Given the description of an element on the screen output the (x, y) to click on. 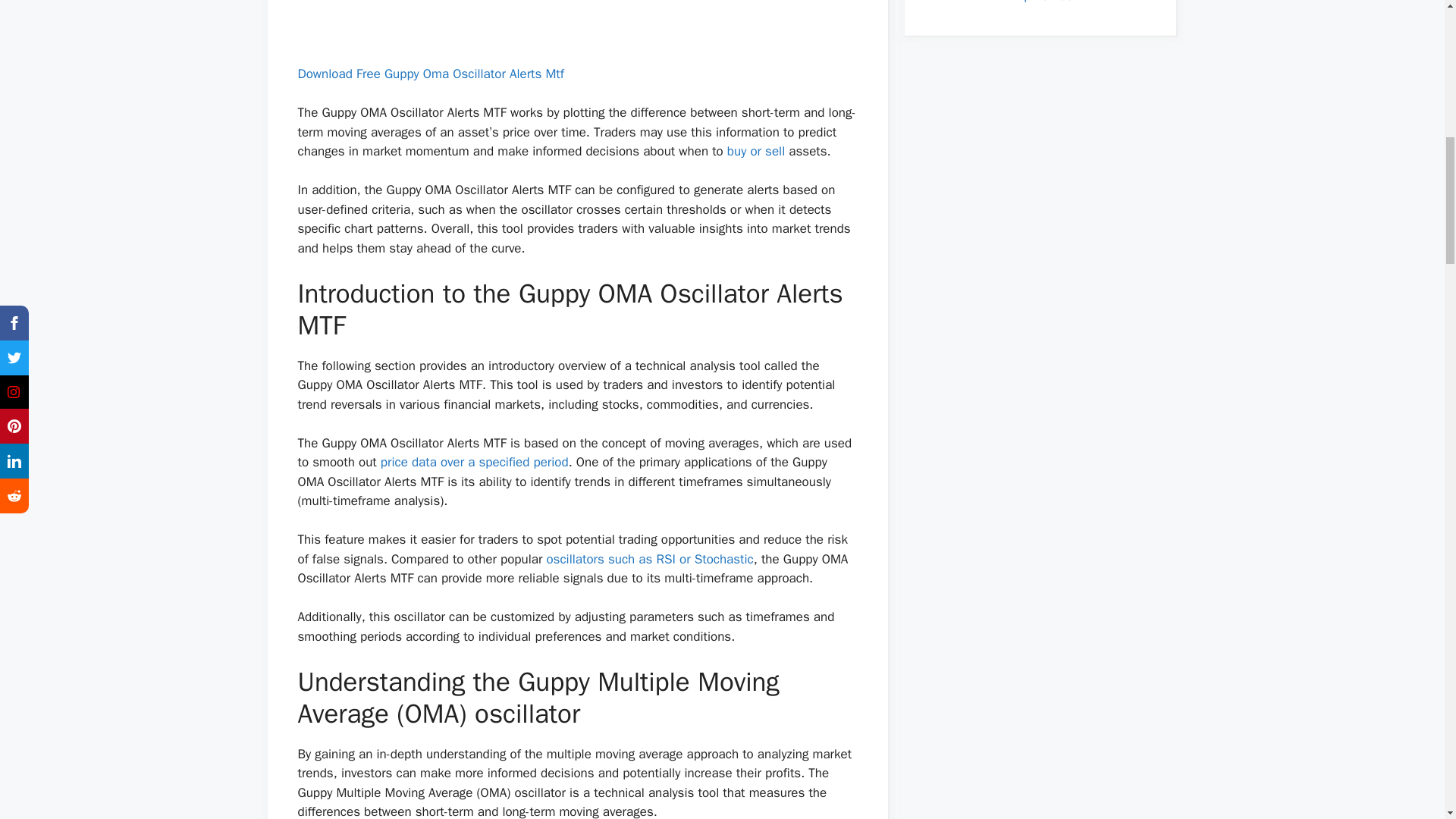
buy or sell (755, 150)
price data over a specified period (474, 462)
oscillators such as RSI or Stochastic (649, 559)
Download Free Guppy Oma Oscillator Alerts Mtf (430, 73)
